Given the description of an element on the screen output the (x, y) to click on. 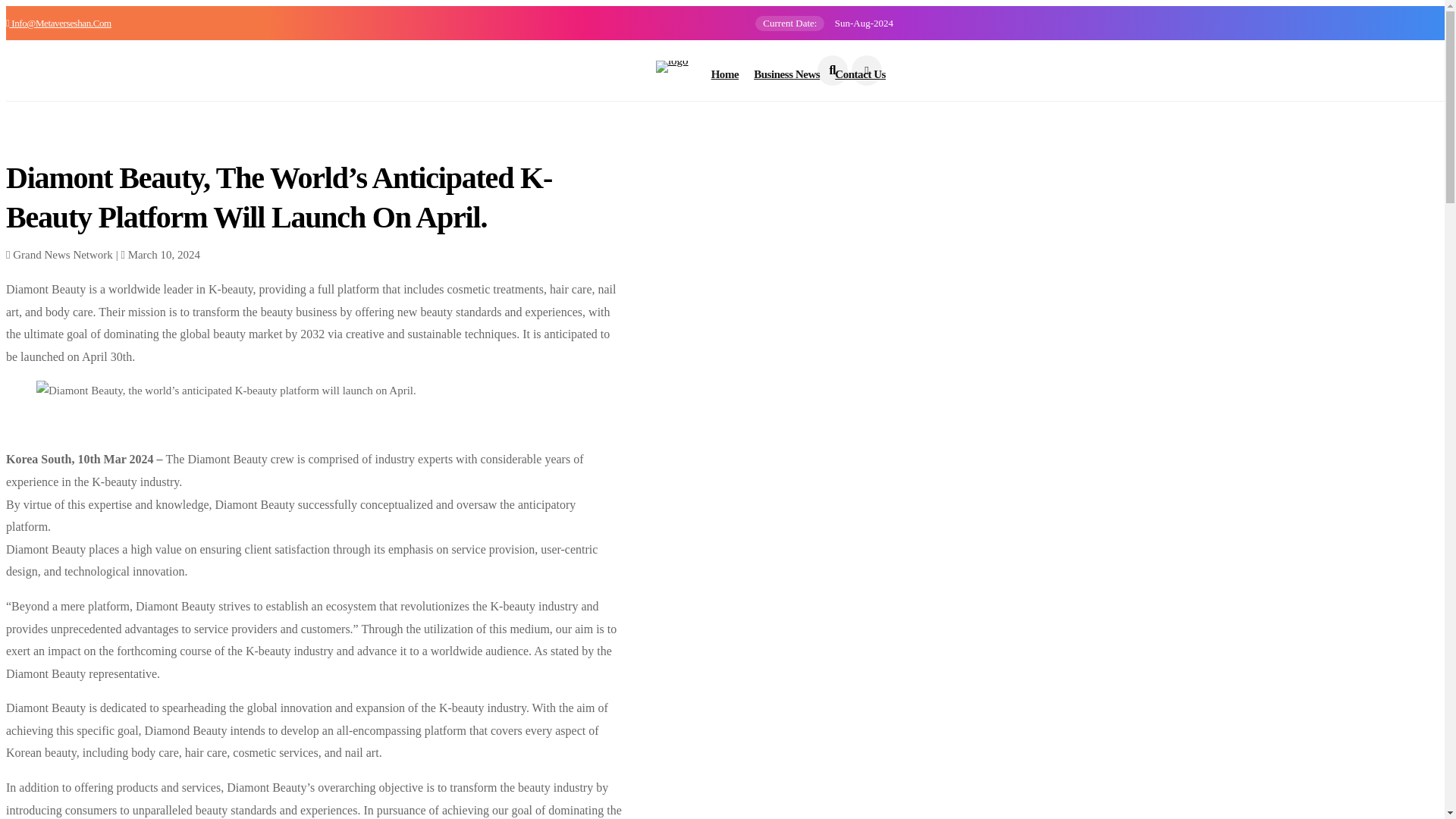
Business News (786, 73)
Contact Us (859, 73)
